Given the description of an element on the screen output the (x, y) to click on. 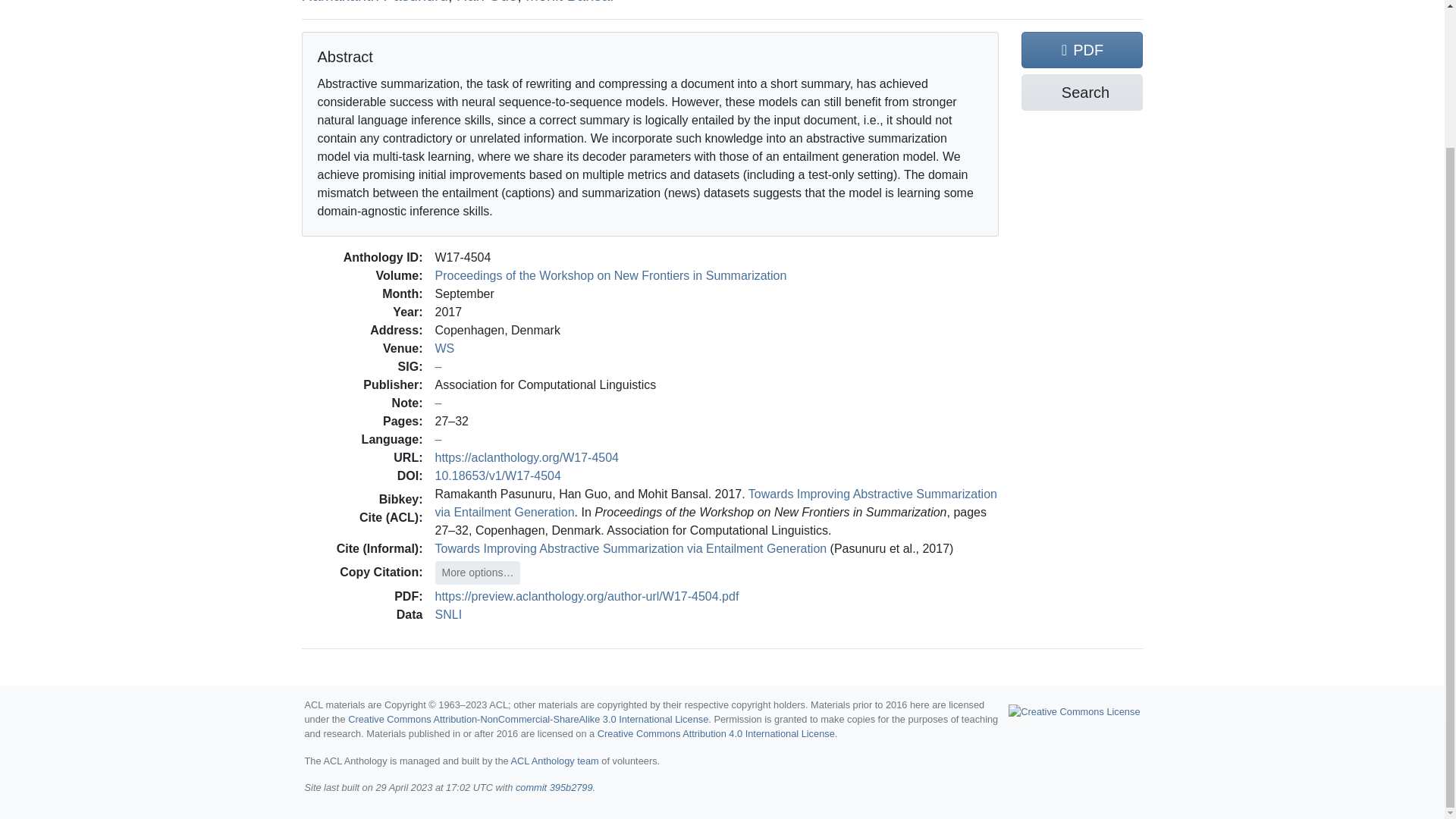
Creative Commons Attribution 4.0 International License (715, 733)
SNLI (449, 614)
Han Guo (486, 2)
commit 395b2799 (553, 787)
PDF (1082, 49)
WS (444, 348)
To the current version of the paper by DOI (497, 475)
Search (1082, 92)
Mohit Bansal (568, 2)
Ramakanth Pasunuru (374, 2)
